Given the description of an element on the screen output the (x, y) to click on. 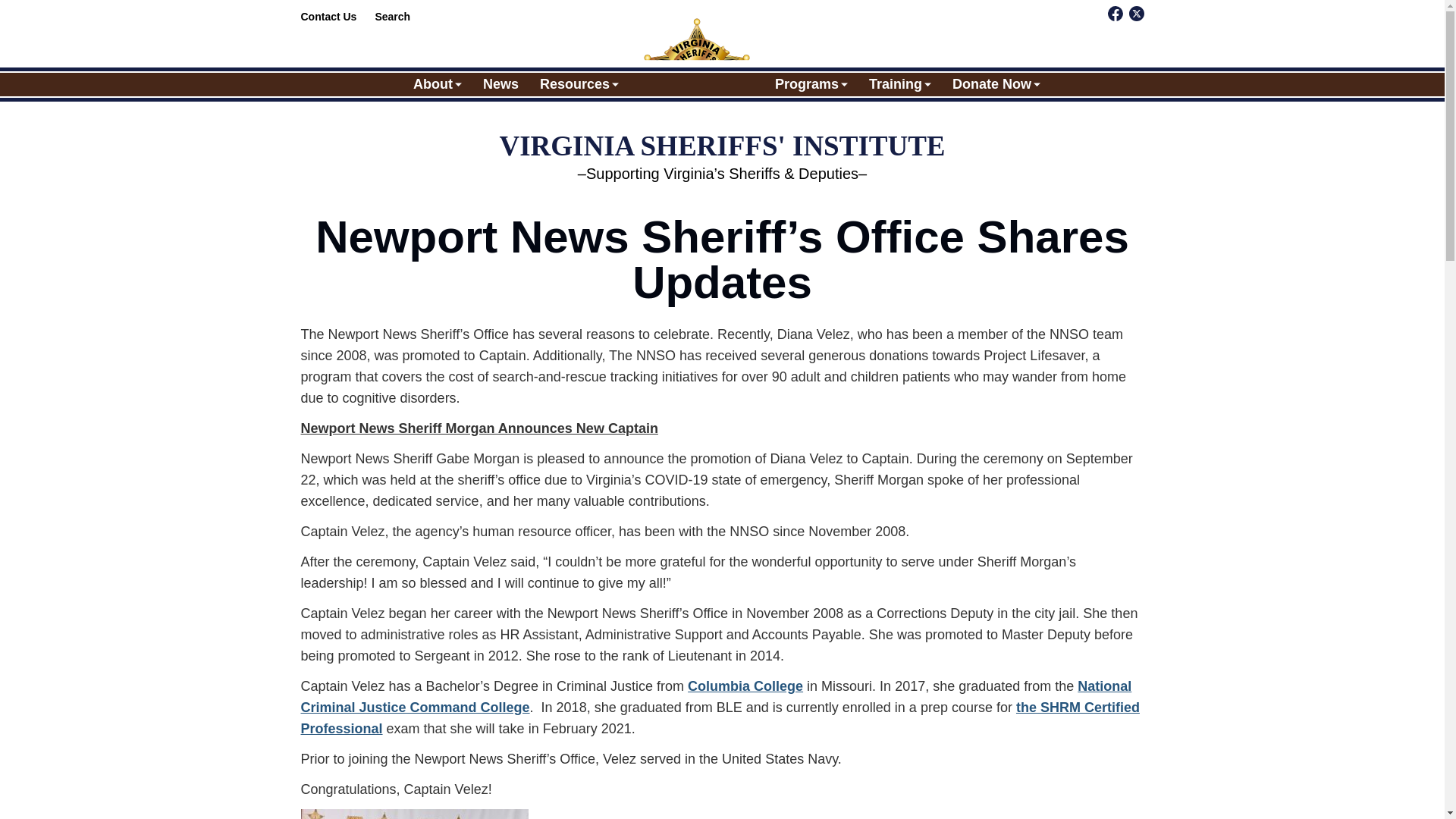
Contact Us (327, 16)
